Given the description of an element on the screen output the (x, y) to click on. 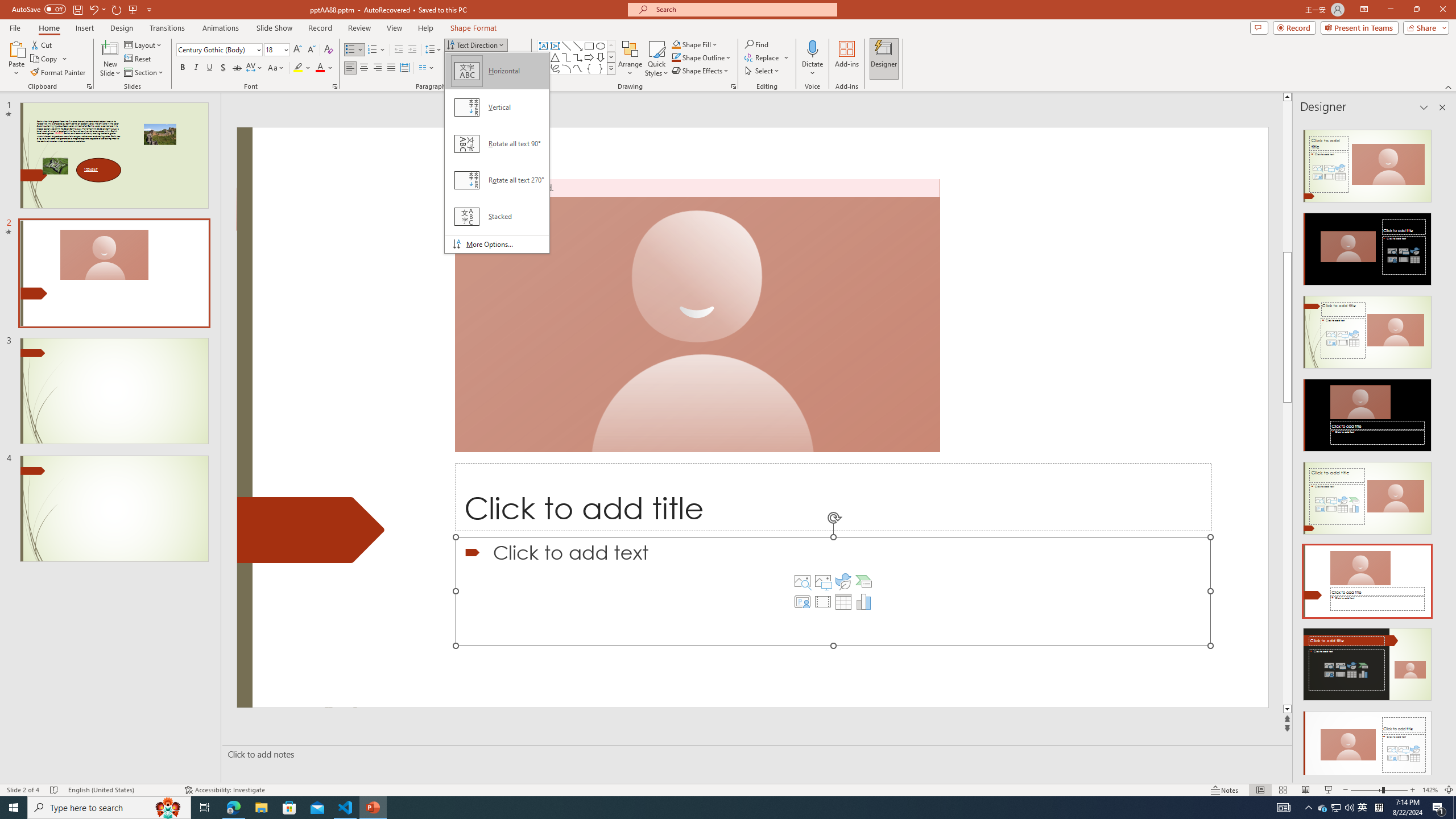
Shape Fill Aqua, Accent 2 (675, 44)
Shape Outline Teal, Accent 1 (675, 56)
